Given the description of an element on the screen output the (x, y) to click on. 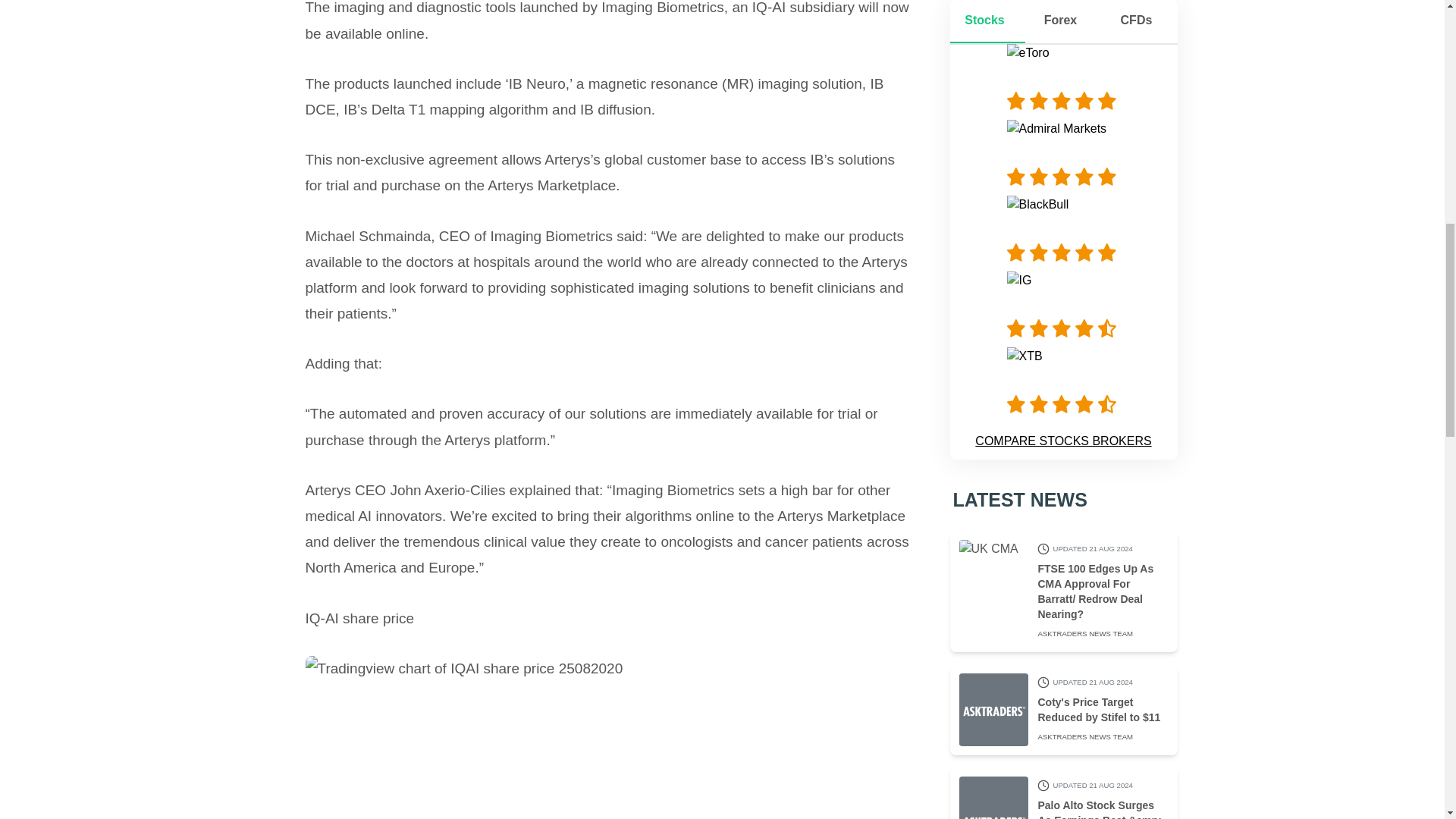
IGreview (1064, 328)
BlackBullreview (1064, 252)
Admiral Marketsreview (1064, 176)
eTororeview (1064, 100)
XTBreview (1064, 403)
